Given the description of an element on the screen output the (x, y) to click on. 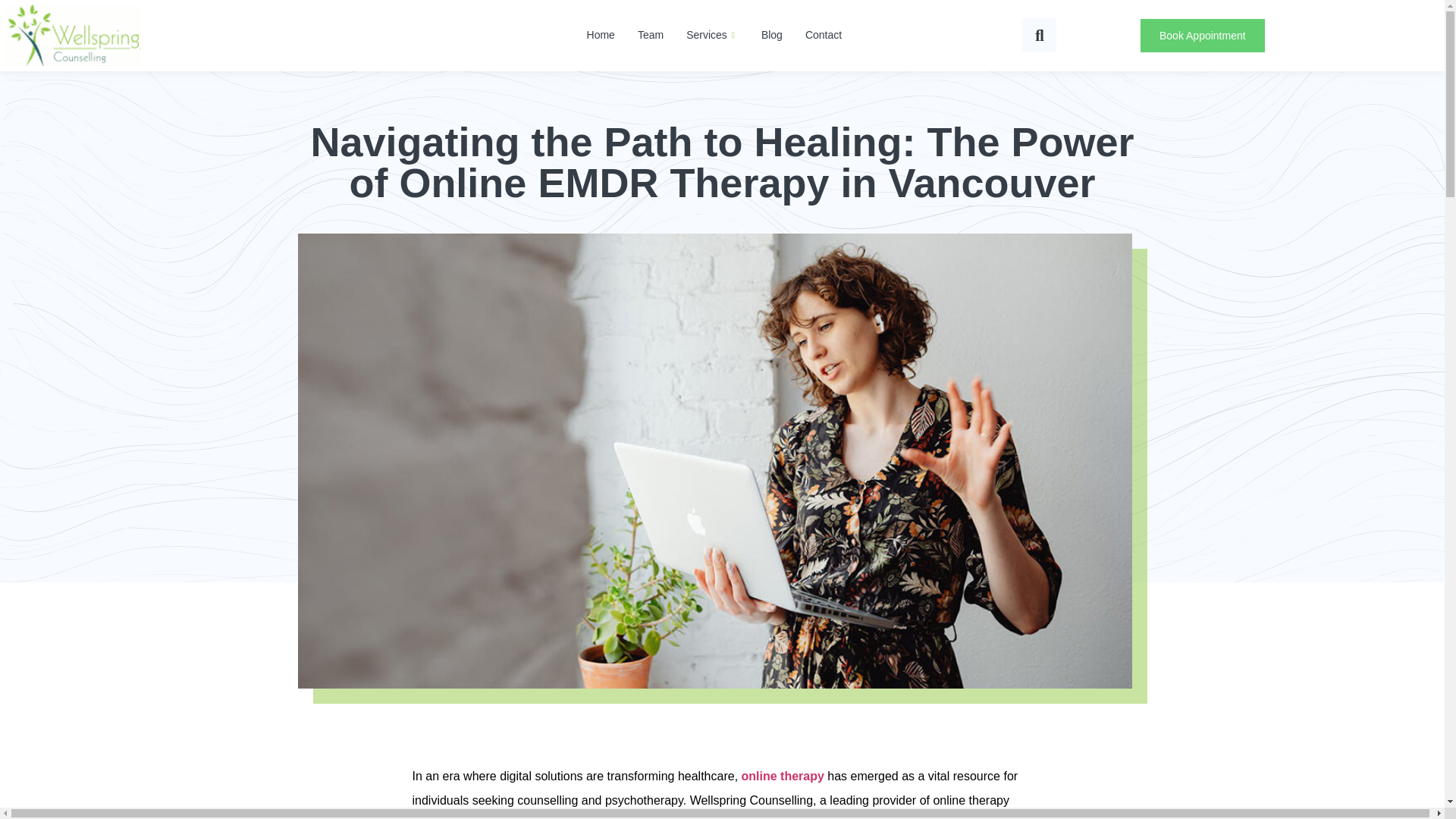
Online Therapy Vancouver (782, 775)
